Given the description of an element on the screen output the (x, y) to click on. 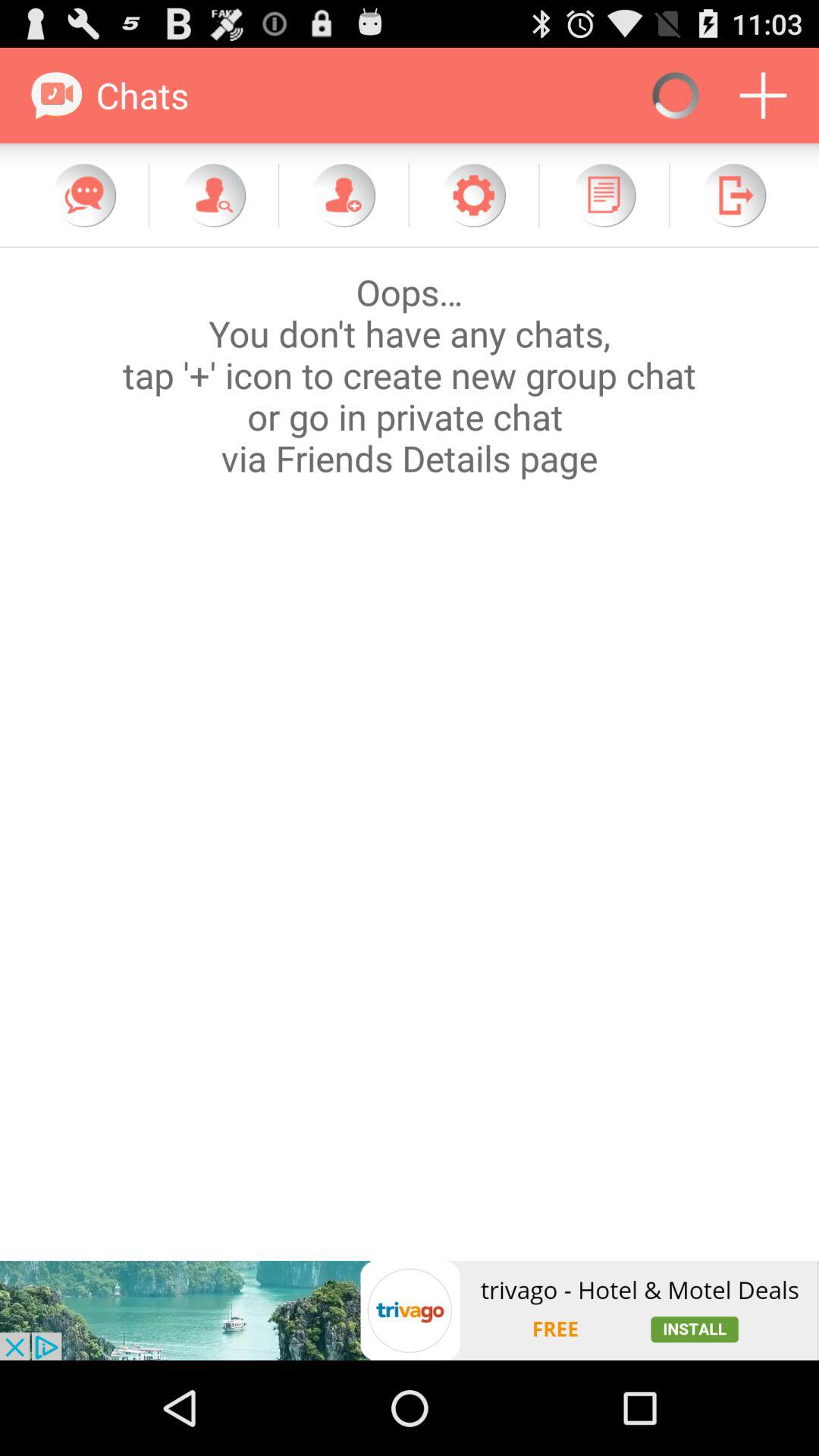
main text area (409, 753)
